Given the description of an element on the screen output the (x, y) to click on. 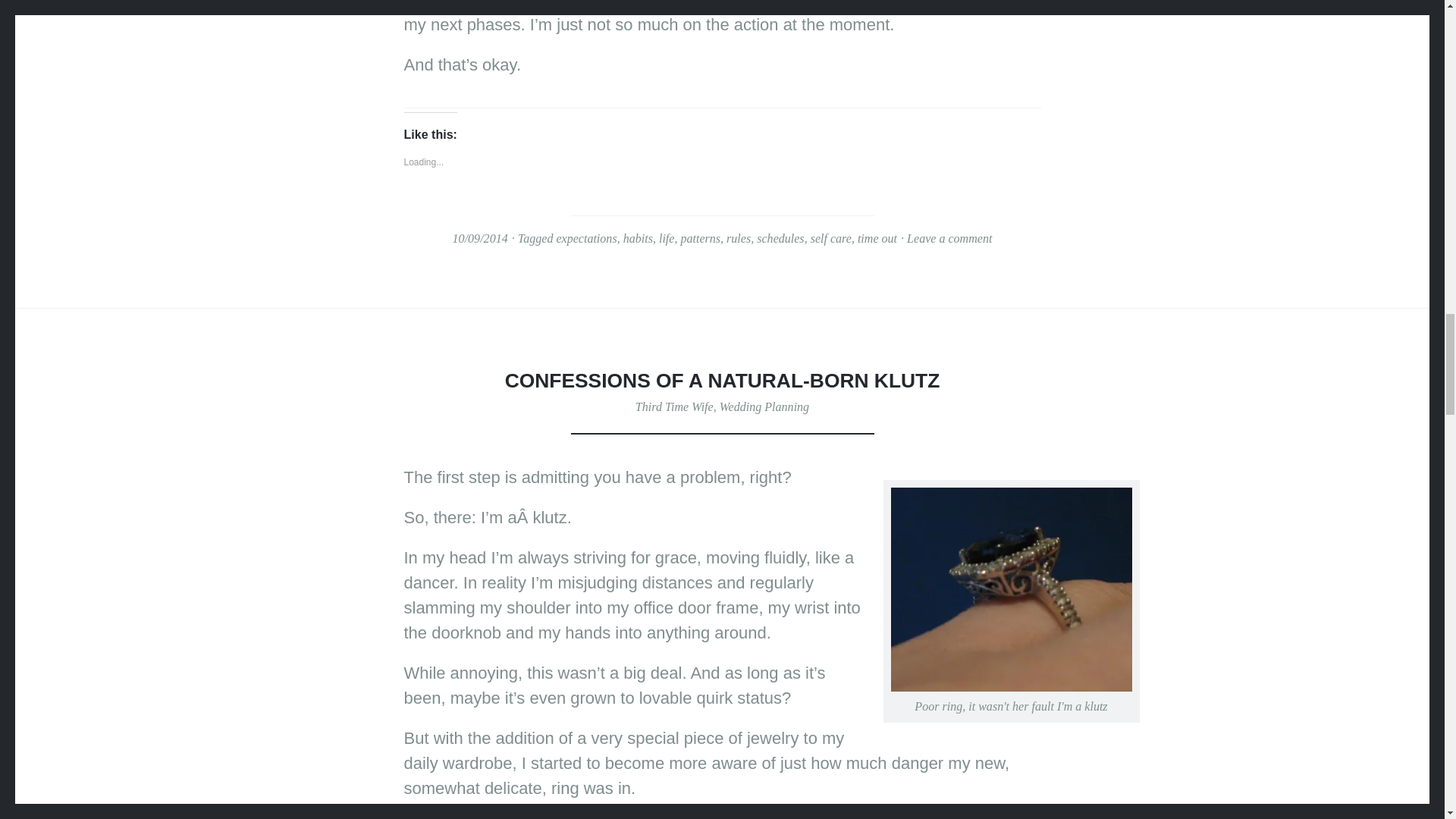
Leave a comment (949, 237)
rules (738, 237)
patterns (699, 237)
habits (637, 237)
schedules (780, 237)
self care (830, 237)
time out (876, 237)
life (667, 237)
expectations (585, 237)
